Given the description of an element on the screen output the (x, y) to click on. 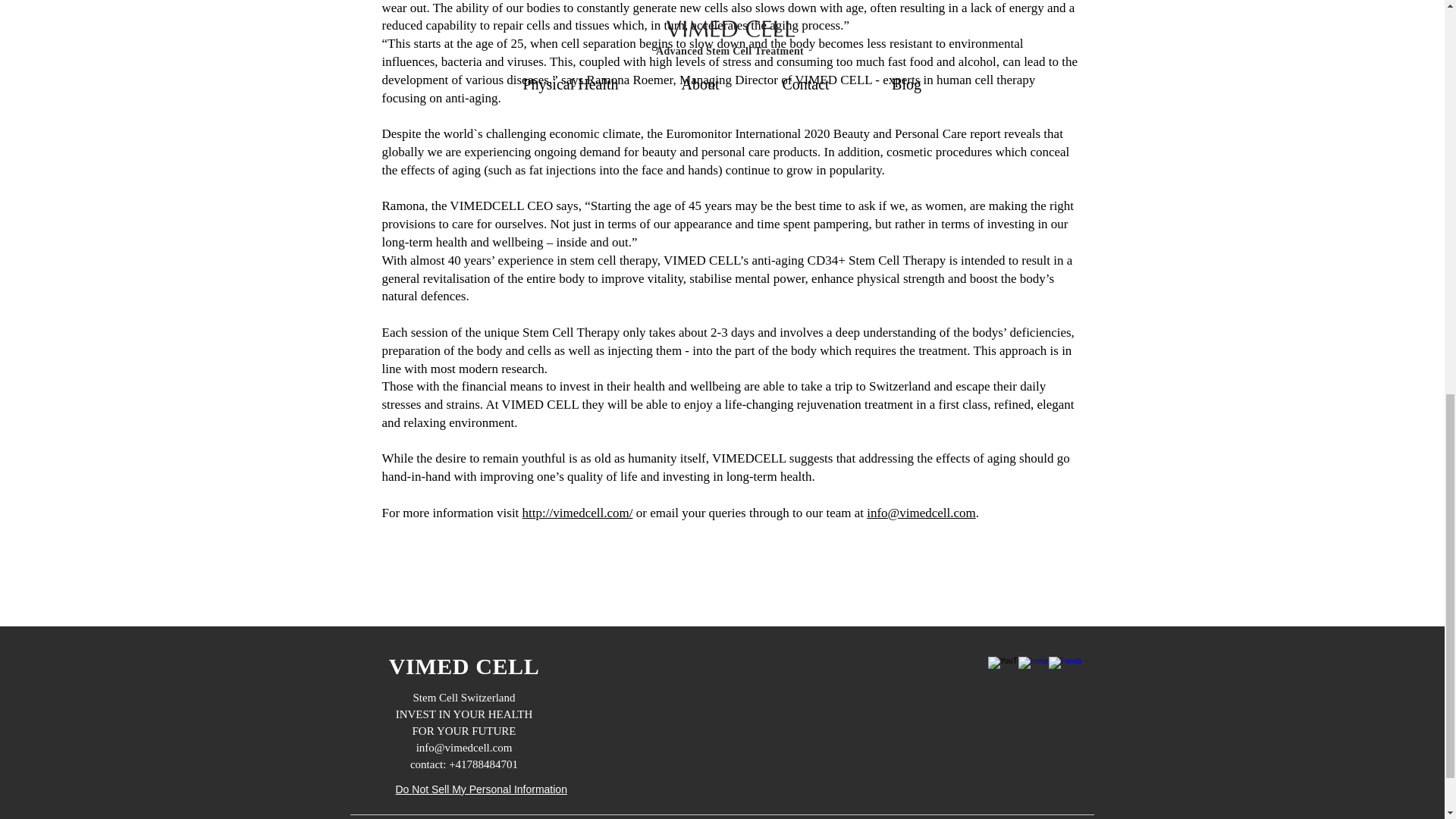
Do Not Sell My Personal Information (481, 789)
VIMED CELL (464, 665)
